Given the description of an element on the screen output the (x, y) to click on. 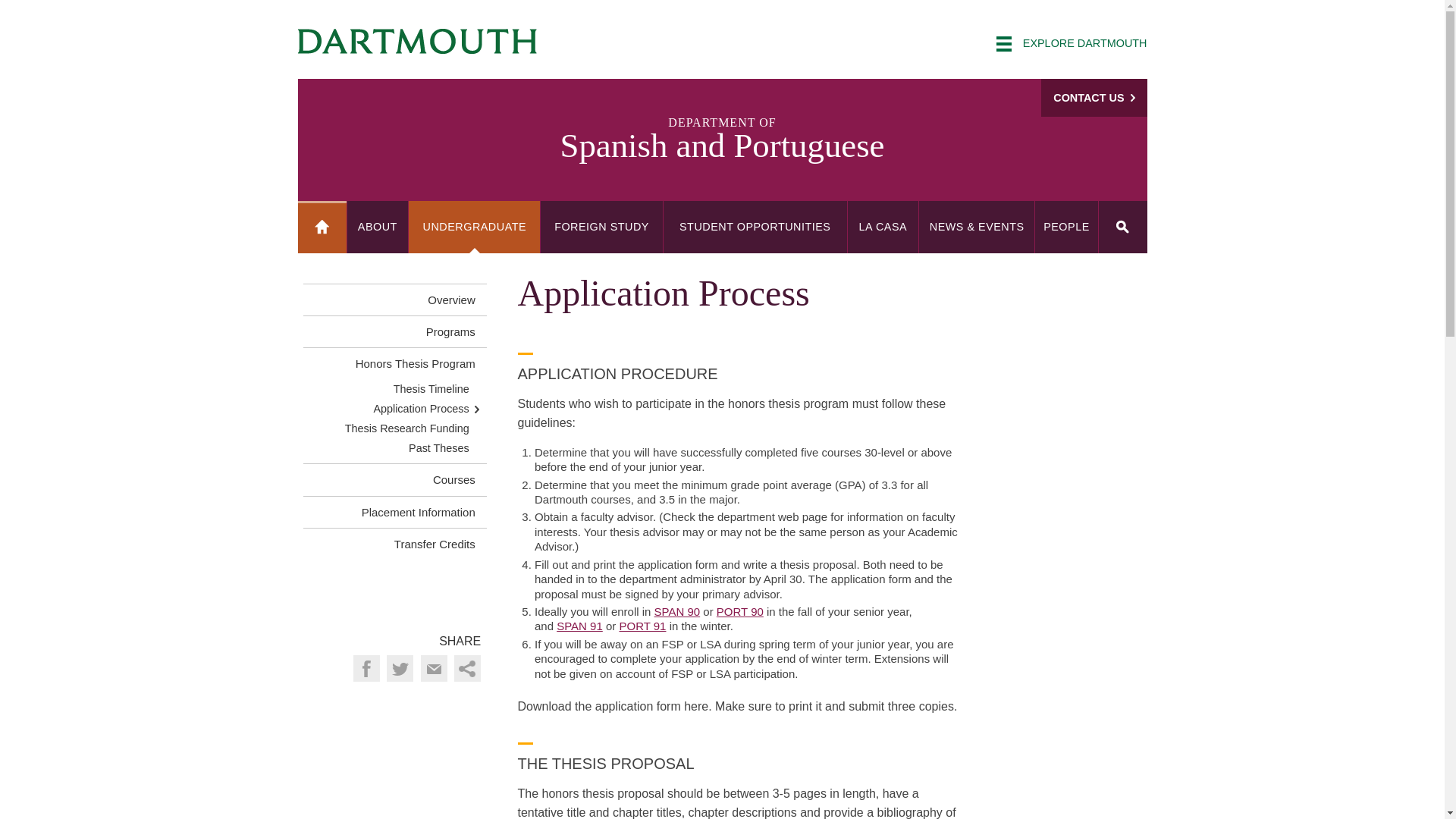
Home (321, 226)
EXPLORE DARTMOUTH (1071, 43)
Dartmouth College (417, 41)
